Given the description of an element on the screen output the (x, y) to click on. 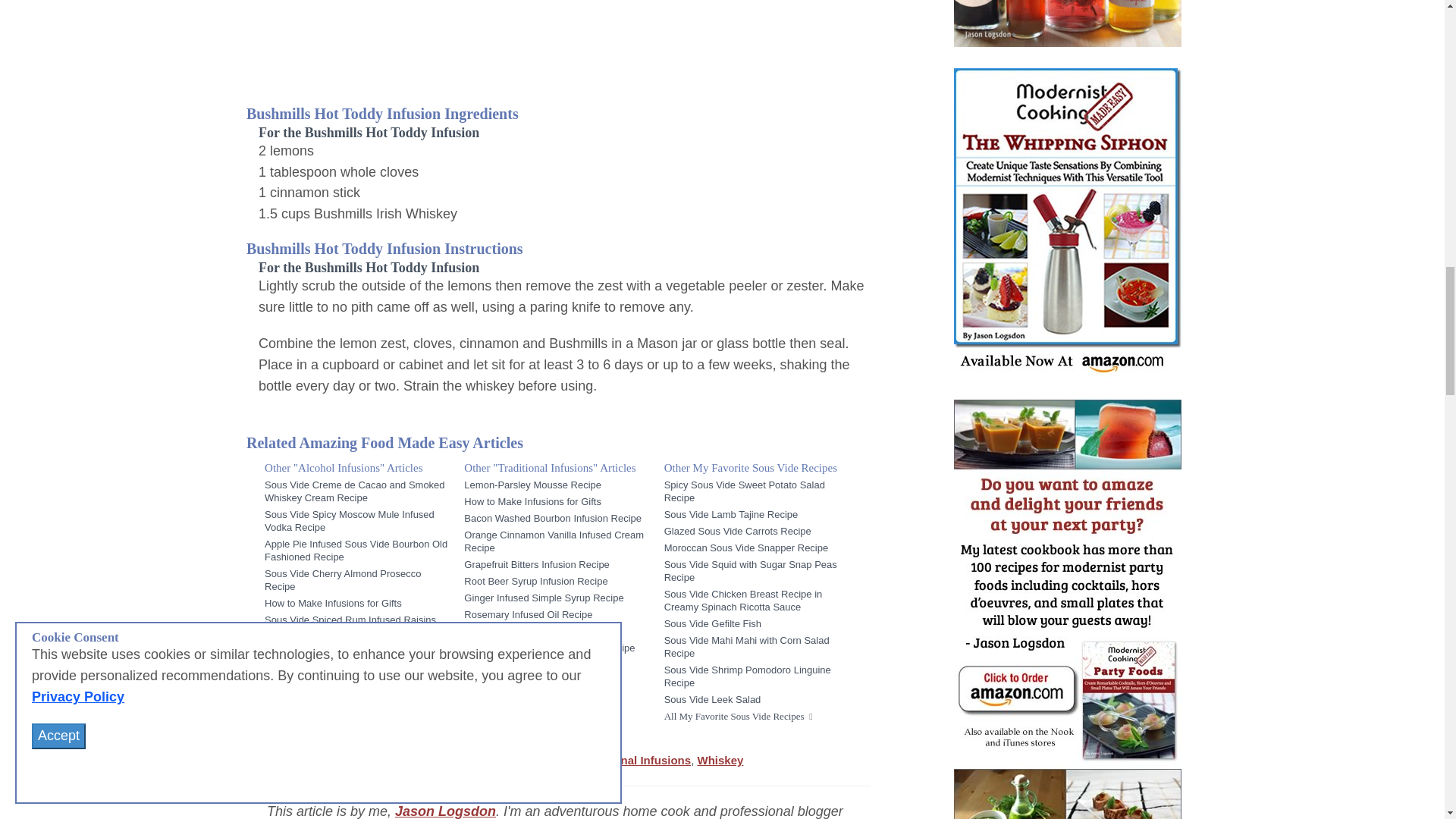
Whipping siphon book side display (1066, 223)
Party Foods book cover large (1066, 609)
